Given the description of an element on the screen output the (x, y) to click on. 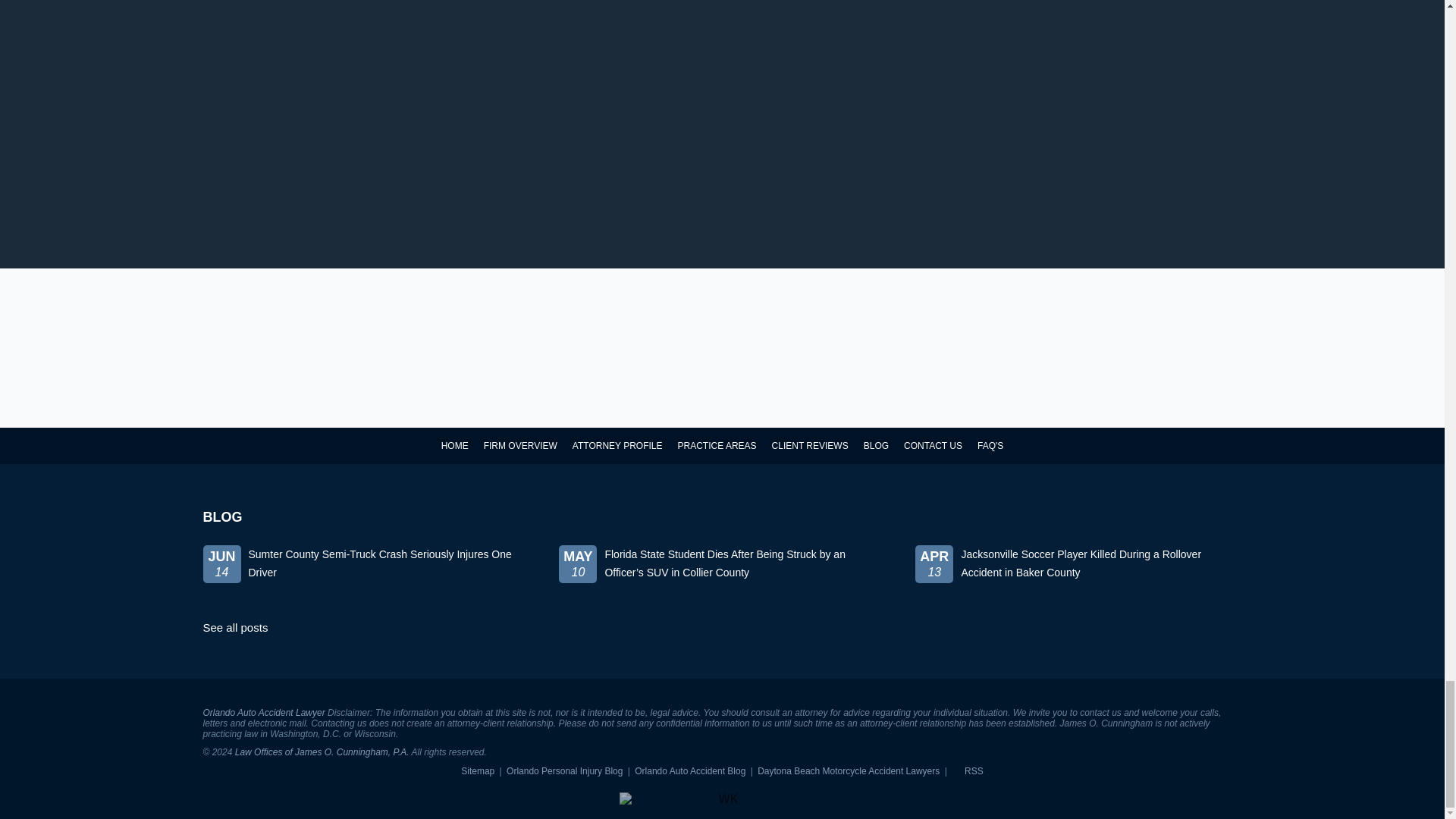
Sumter County Semi-Truck Crash Seriously Injures One Driver (366, 577)
